Given the description of an element on the screen output the (x, y) to click on. 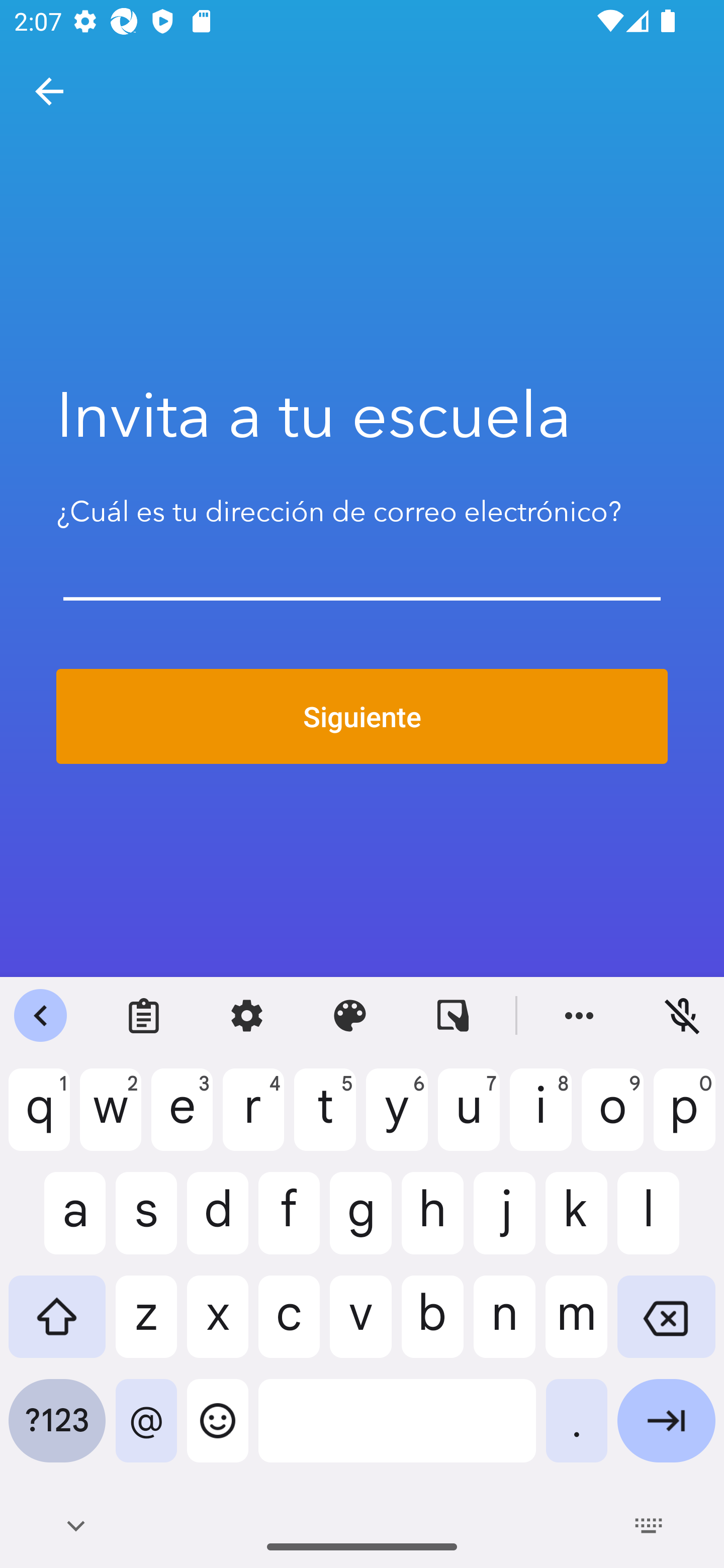
Navegar hacia arriba (49, 91)
Siguiente (361, 716)
